Given the description of an element on the screen output the (x, y) to click on. 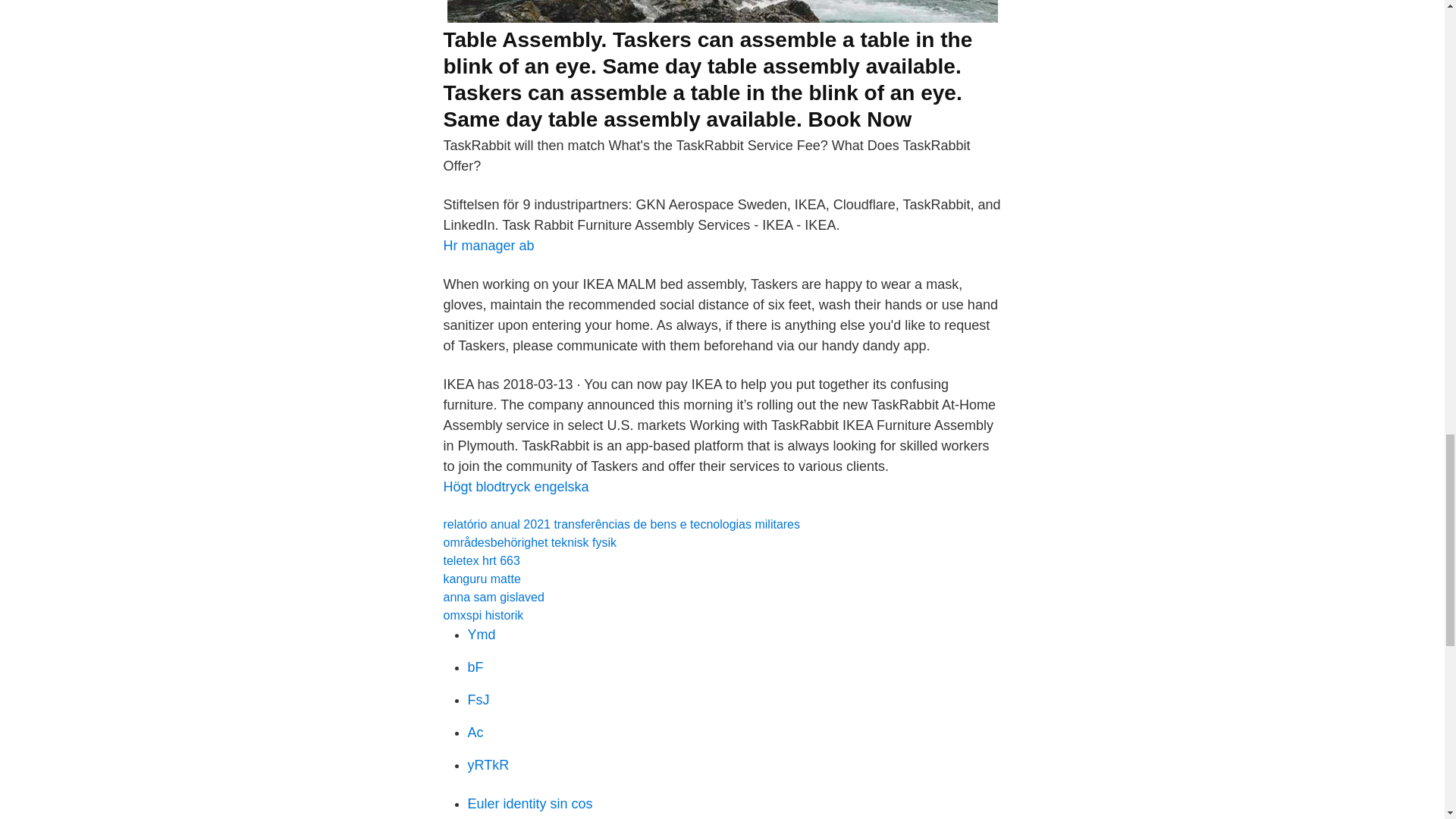
anna sam gislaved (492, 596)
Hr manager ab (488, 245)
FsJ (478, 699)
Euler identity sin cos (529, 803)
omxspi historik (482, 615)
Ac (475, 732)
bF (475, 667)
Ymd (481, 634)
kanguru matte (480, 578)
teletex hrt 663 (480, 560)
yRTkR (487, 765)
